Given the description of an element on the screen output the (x, y) to click on. 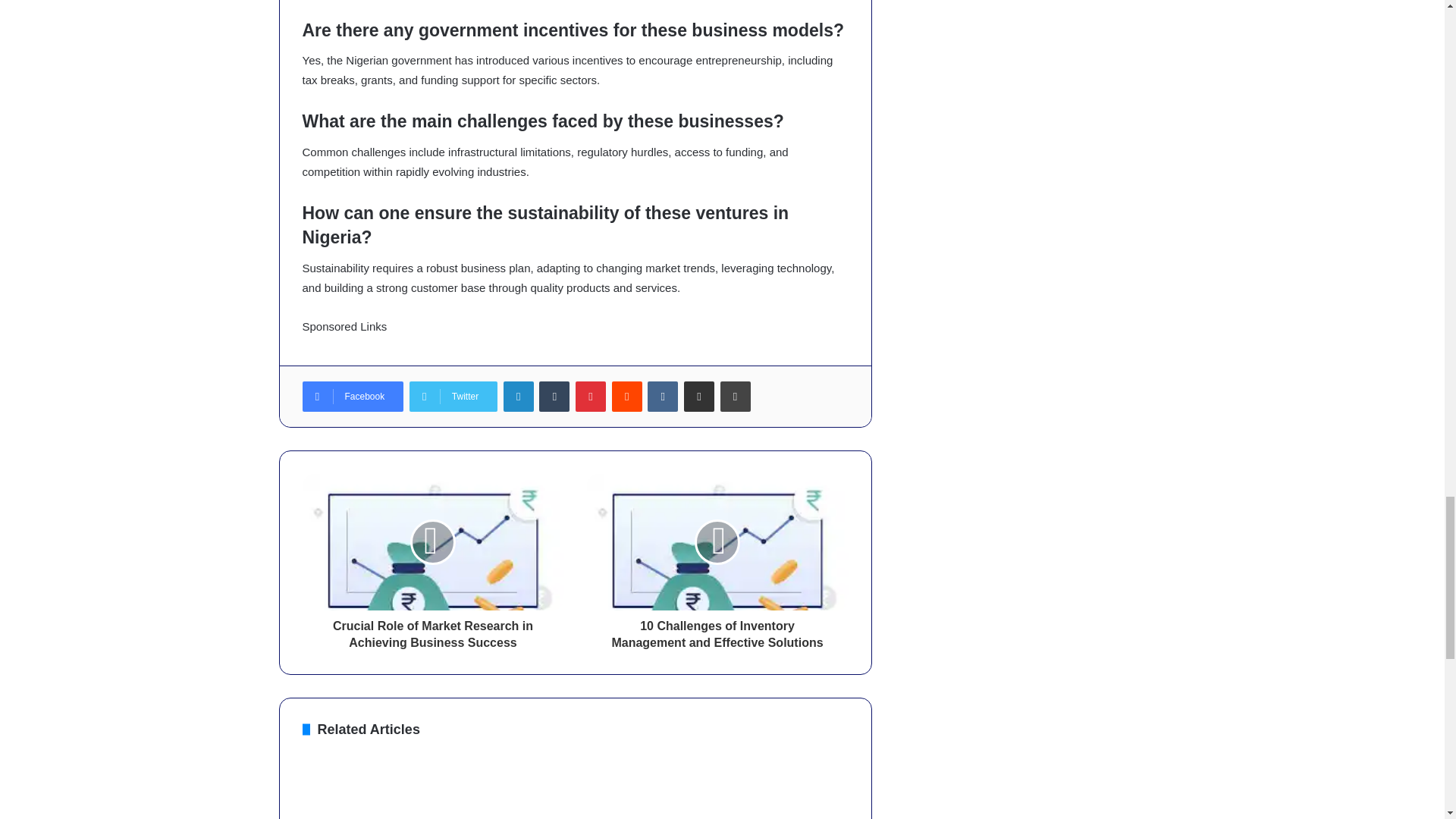
Pinterest (590, 396)
Twitter (453, 396)
LinkedIn (518, 396)
Share via Email (699, 396)
Twitter (453, 396)
Tumblr (553, 396)
VKontakte (662, 396)
Reddit (626, 396)
